Given the description of an element on the screen output the (x, y) to click on. 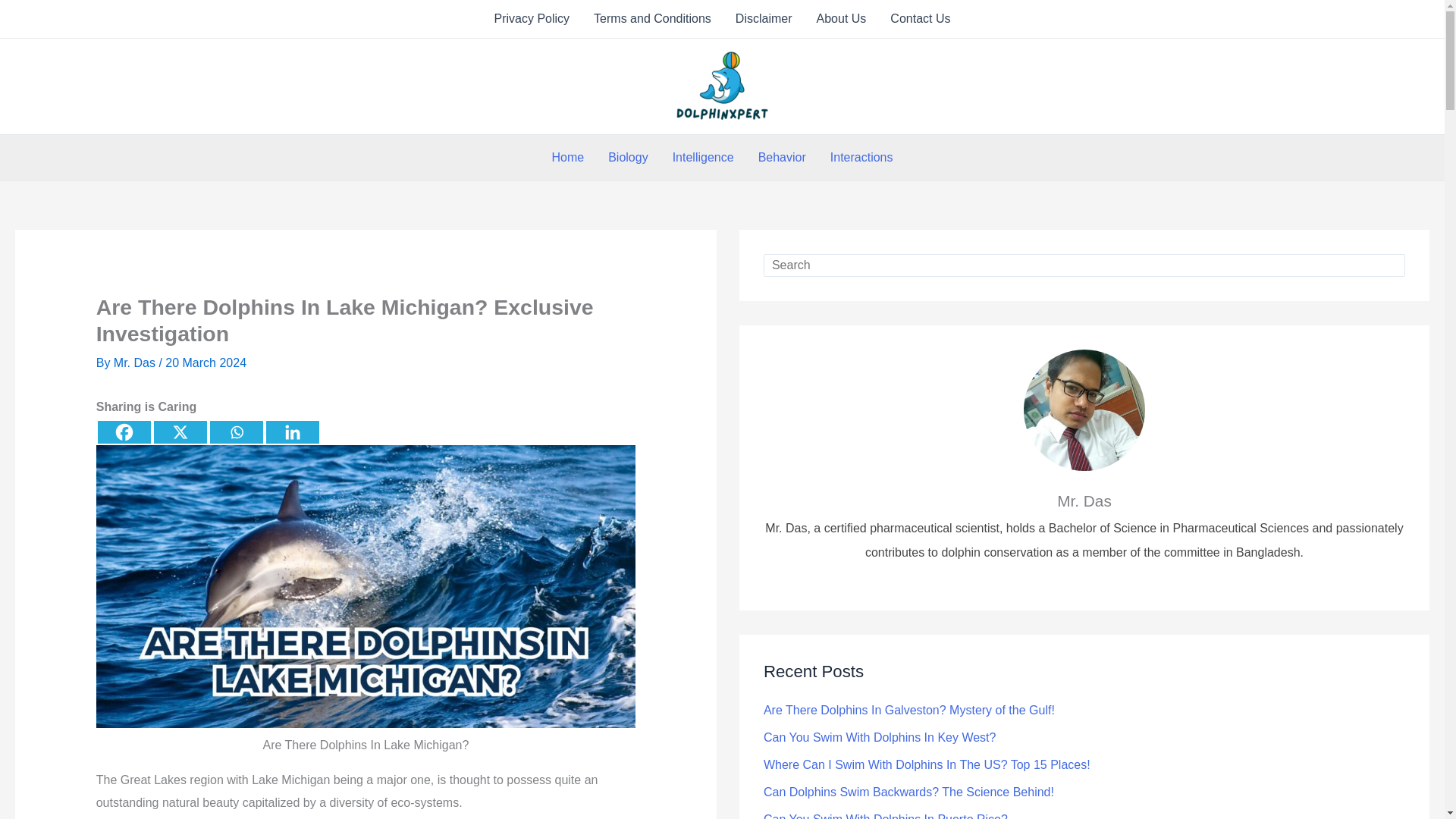
Whatsapp (236, 431)
Intelligence (703, 157)
Terms and Conditions (651, 18)
Contact Us (919, 18)
Disclaimer (764, 18)
Facebook (124, 431)
Linkedin (292, 431)
Behavior (781, 157)
View all posts by Mr. Das (135, 362)
X (180, 431)
Home (568, 157)
Privacy Policy (531, 18)
Biology (627, 157)
Interactions (861, 157)
About Us (842, 18)
